Given the description of an element on the screen output the (x, y) to click on. 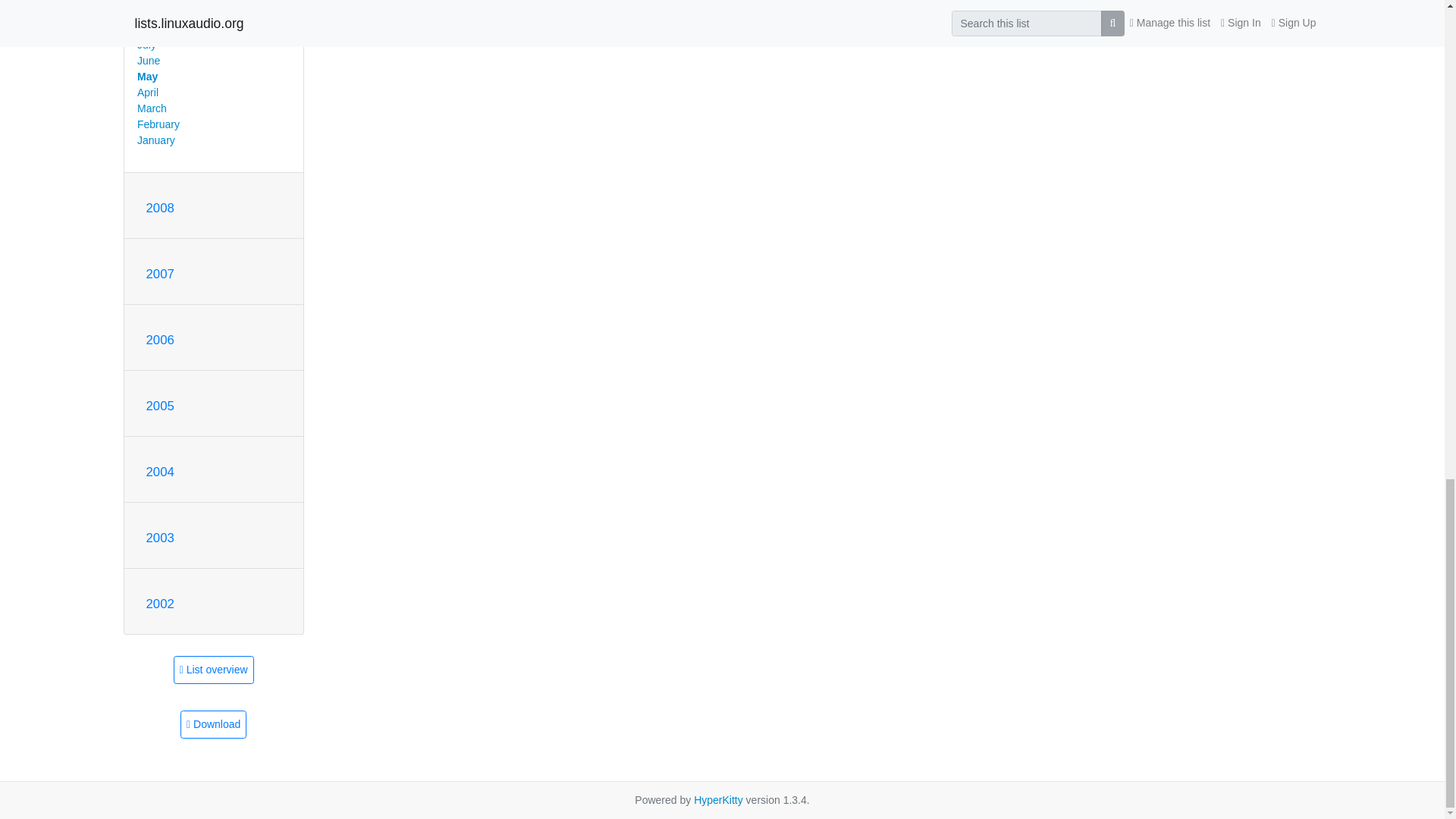
This message in gzipped mbox format (213, 724)
